Given the description of an element on the screen output the (x, y) to click on. 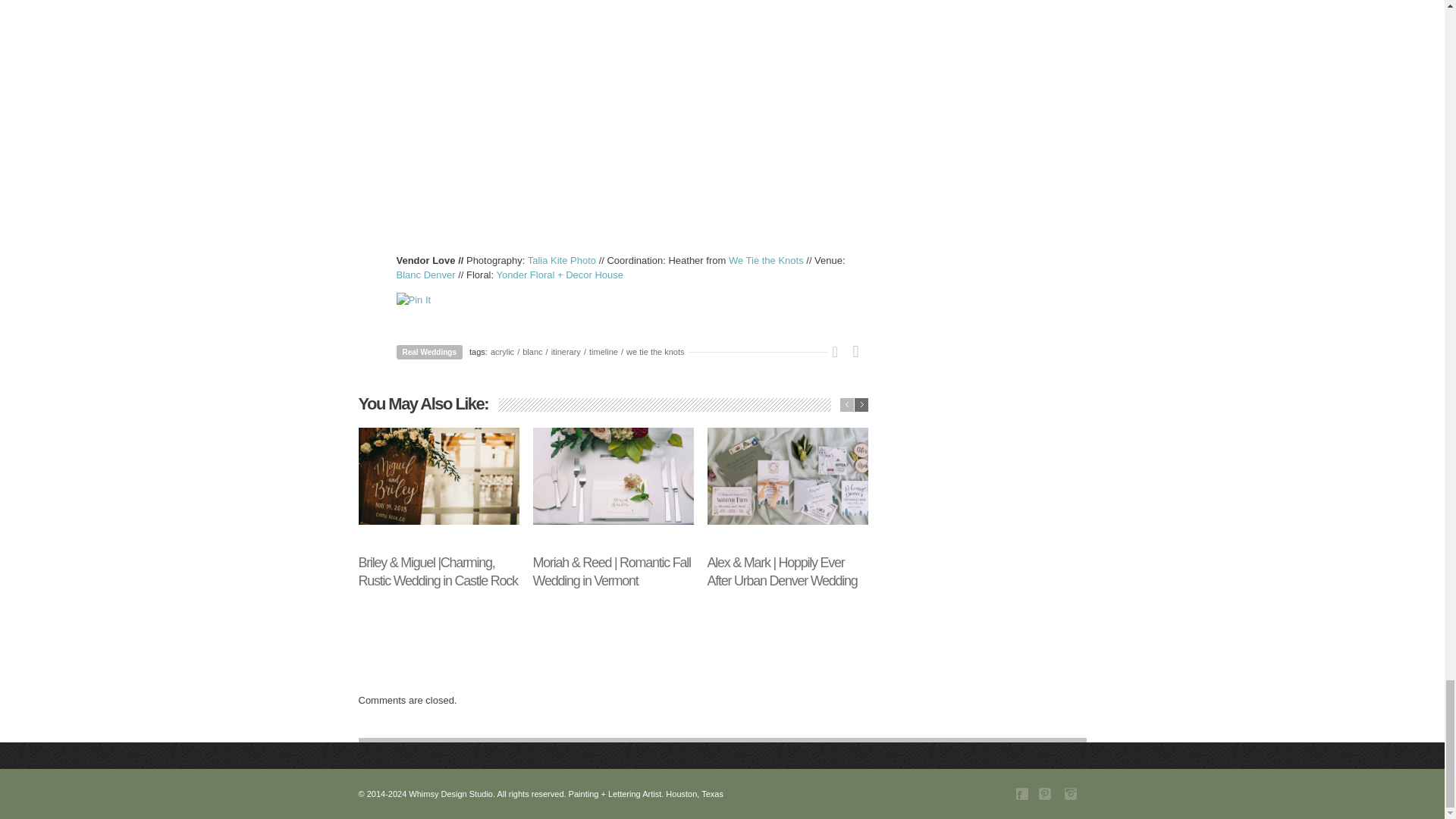
next (860, 404)
blanc (531, 351)
View all posts in Real Weddings (429, 351)
Pin It (631, 299)
acrylic (501, 351)
Share on twitter (839, 351)
We Tie the Knots (766, 260)
Blanc Denver (425, 274)
Real Weddings (429, 351)
previous (846, 404)
Share on facebook (859, 351)
timeline (603, 351)
we tie the knots (655, 351)
itinerary (565, 351)
Talia Kite Photo (561, 260)
